Given the description of an element on the screen output the (x, y) to click on. 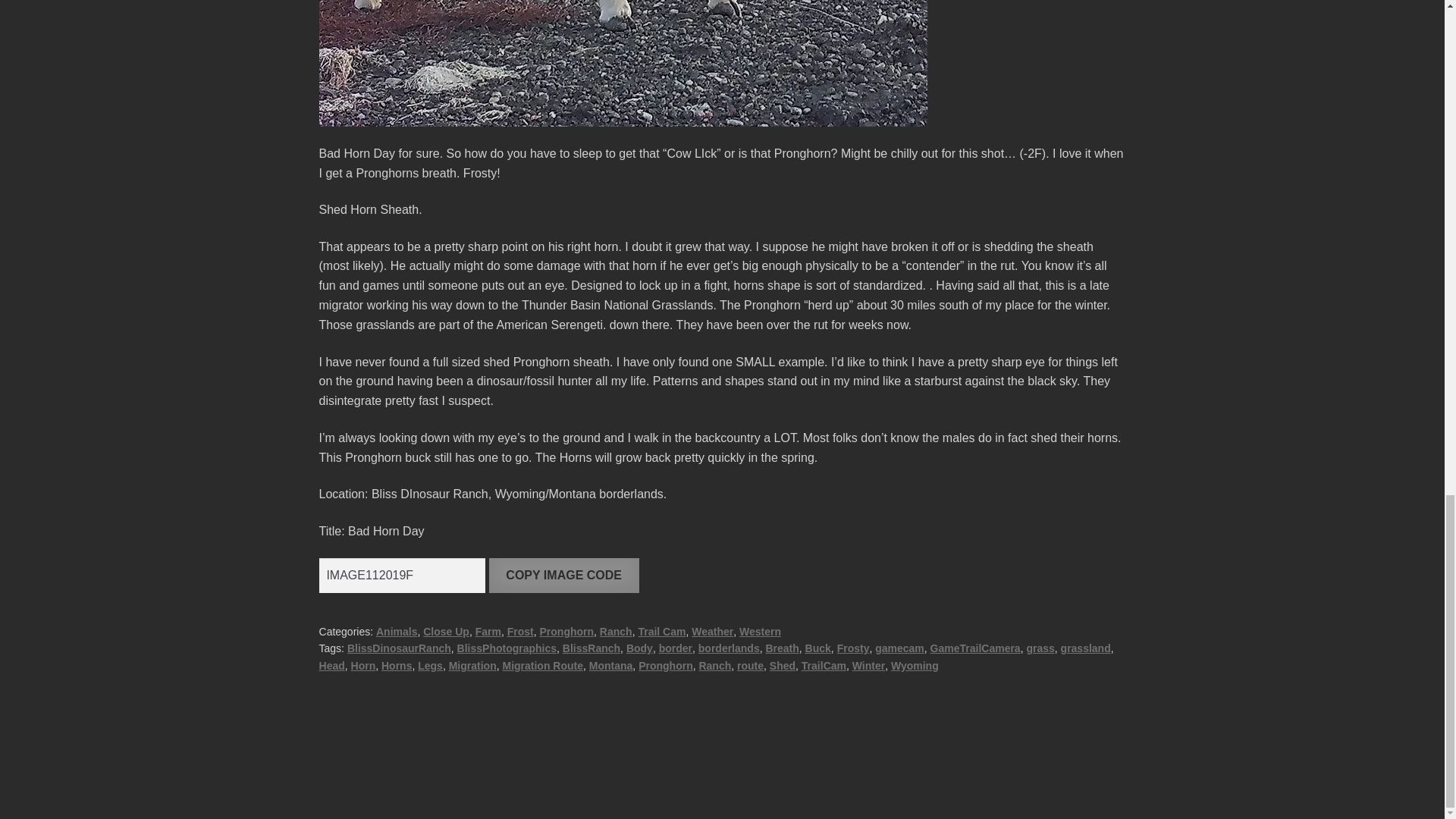
BlissRanch (591, 648)
Animals (395, 631)
Ranch (615, 631)
Breath (781, 648)
gamecam (899, 648)
borderlands (729, 648)
Frost (520, 631)
Farm (488, 631)
Trail Cam (661, 631)
Western (759, 631)
